Given the description of an element on the screen output the (x, y) to click on. 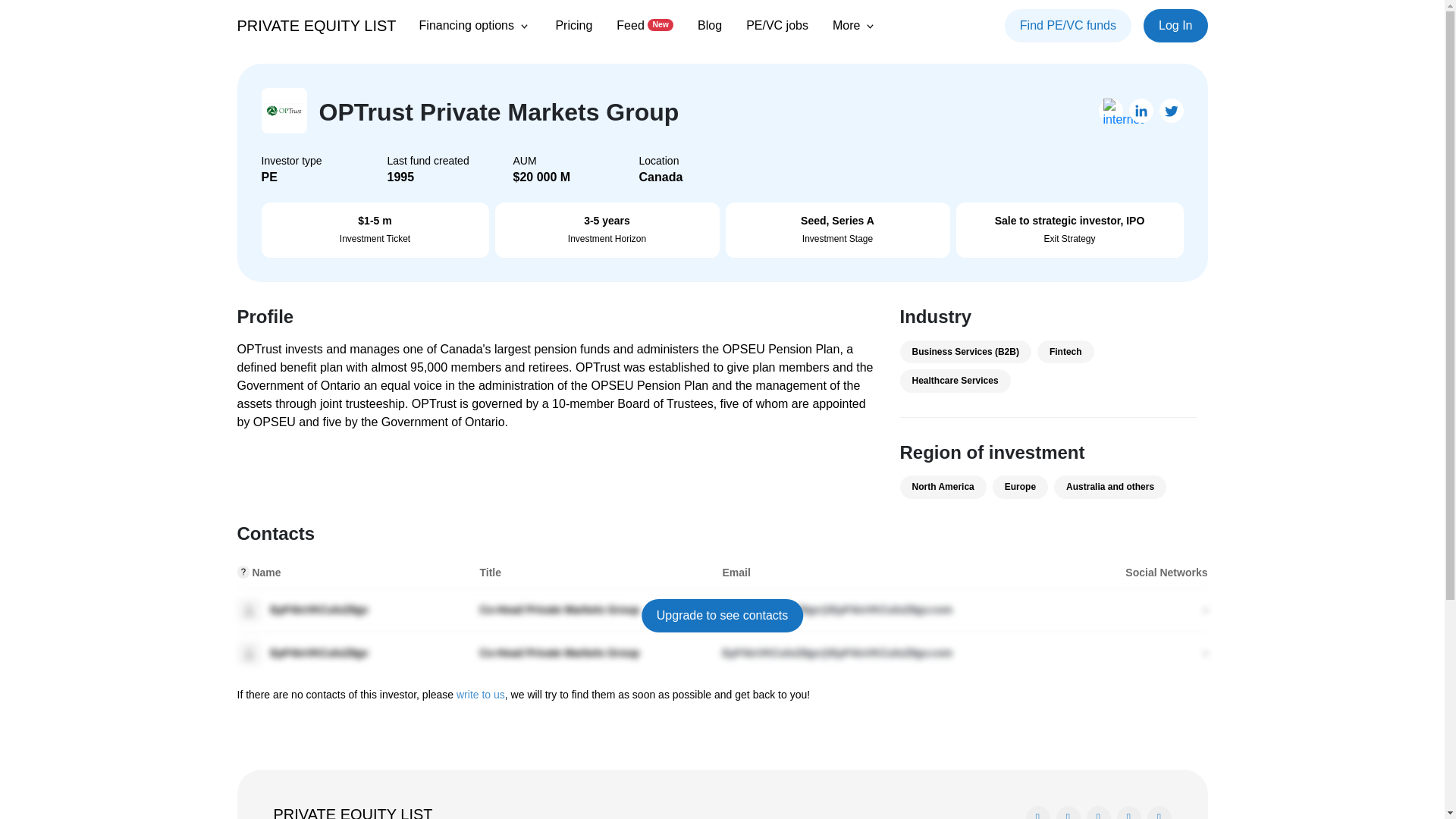
More (854, 25)
Pricing (573, 24)
Blog (709, 24)
Feed New (643, 24)
PRIVATE EQUITY LIST (315, 25)
Financing options (475, 25)
